Given the description of an element on the screen output the (x, y) to click on. 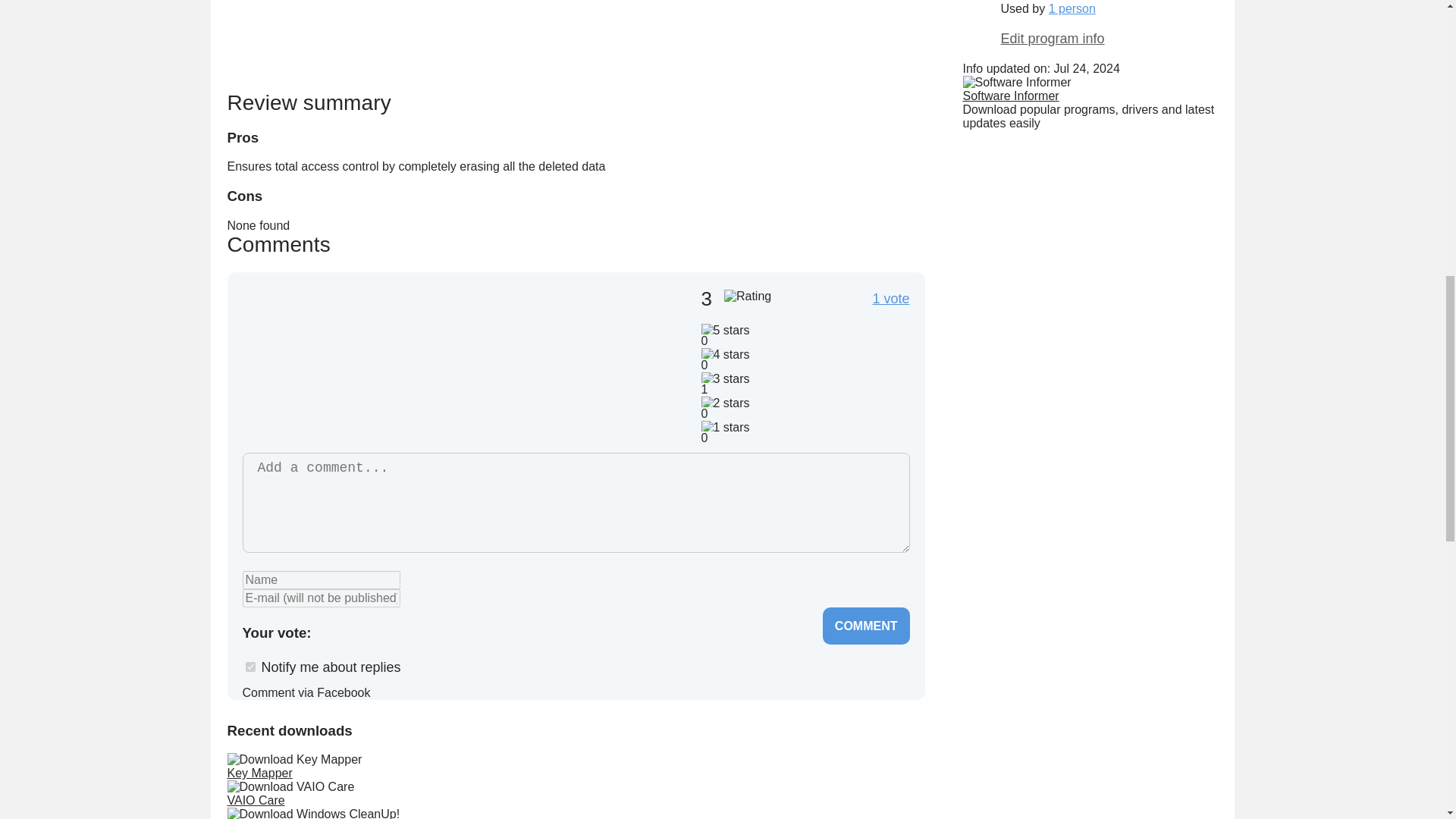
1 (251, 666)
5 (420, 631)
Software Informer (1010, 95)
Comment (866, 625)
3 (371, 631)
1 vote (890, 299)
1 (323, 631)
2 (347, 631)
Key Mapper (259, 772)
4 (396, 631)
